Given the description of an element on the screen output the (x, y) to click on. 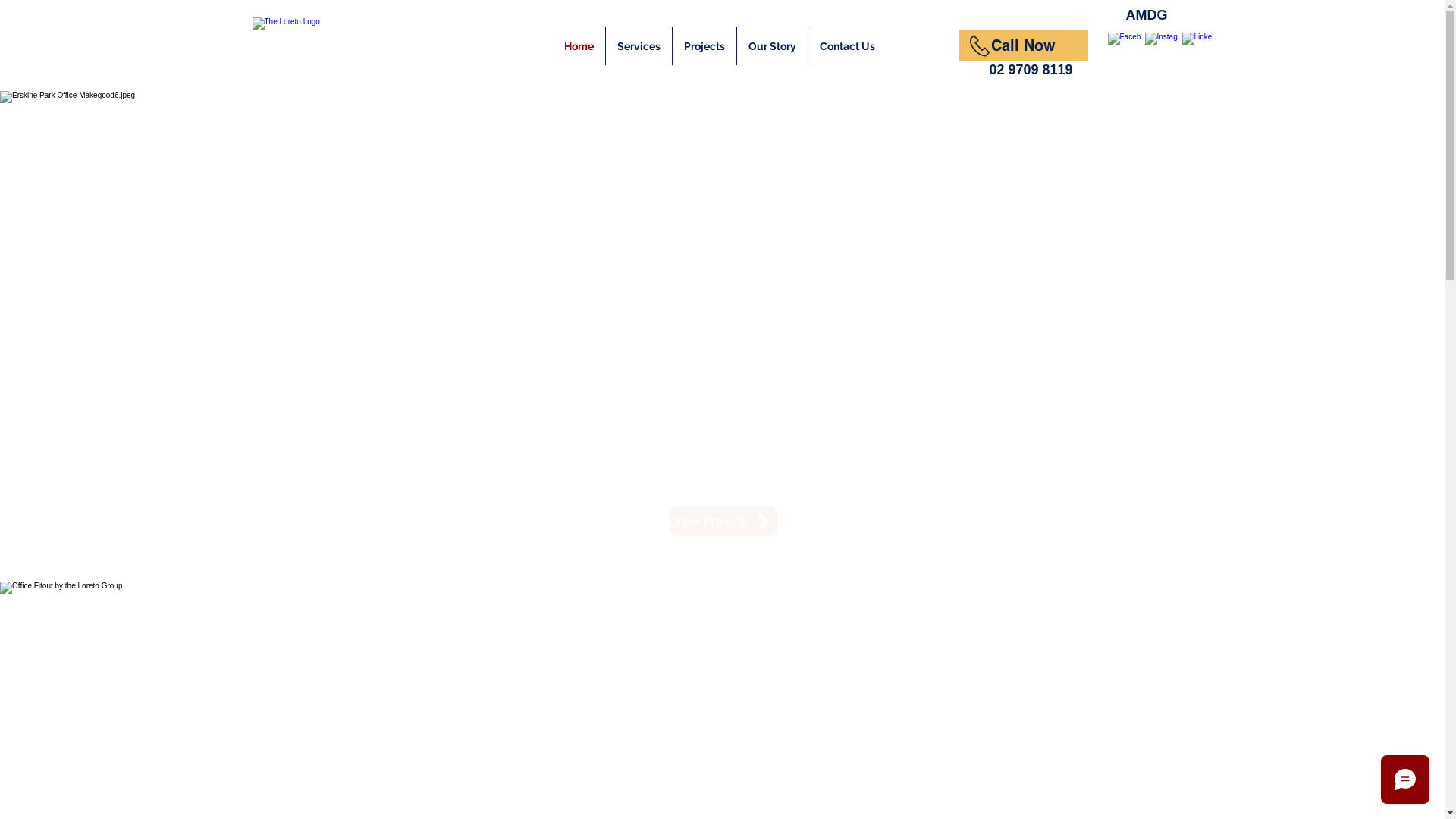
View Projects Element type: text (722, 520)
Call Now Element type: text (1022, 45)
Projects Element type: text (703, 46)
Contact Us Element type: text (847, 46)
Our Story Element type: text (772, 46)
Services Element type: text (638, 46)
Home Element type: text (578, 46)
